Given the description of an element on the screen output the (x, y) to click on. 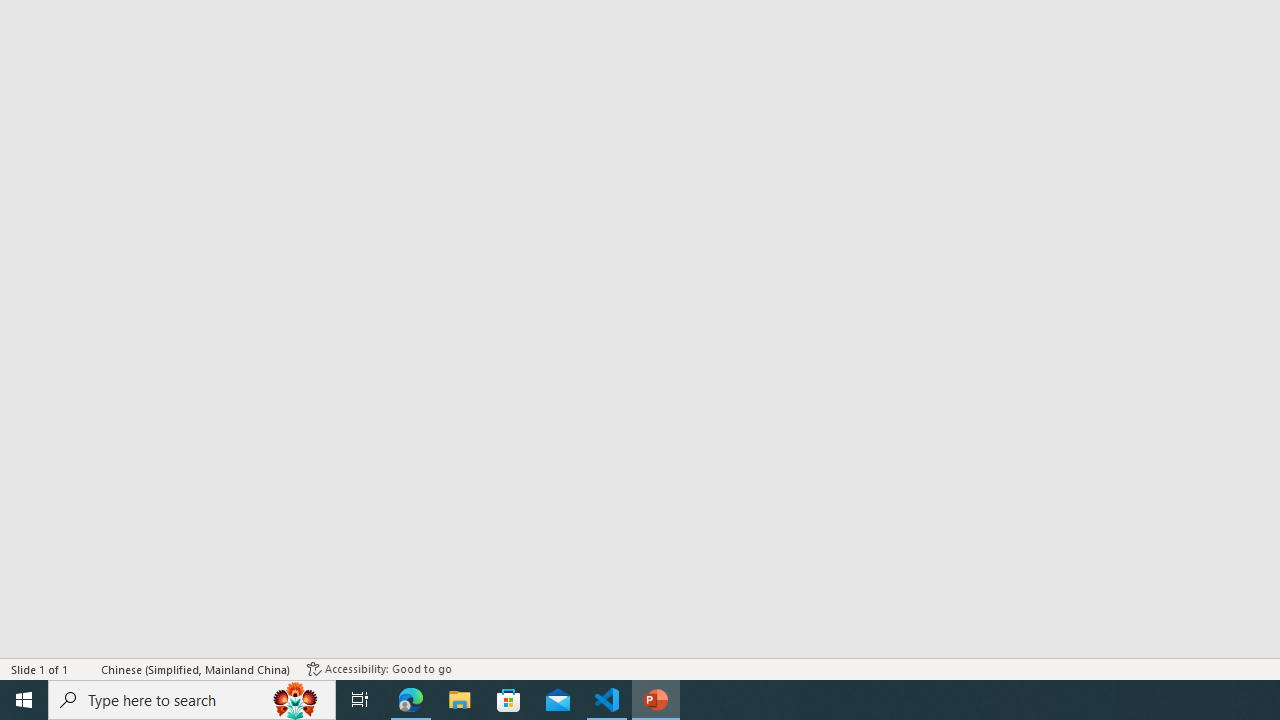
Spell Check  (86, 668)
Accessibility Checker Accessibility: Good to go (379, 668)
